Given the description of an element on the screen output the (x, y) to click on. 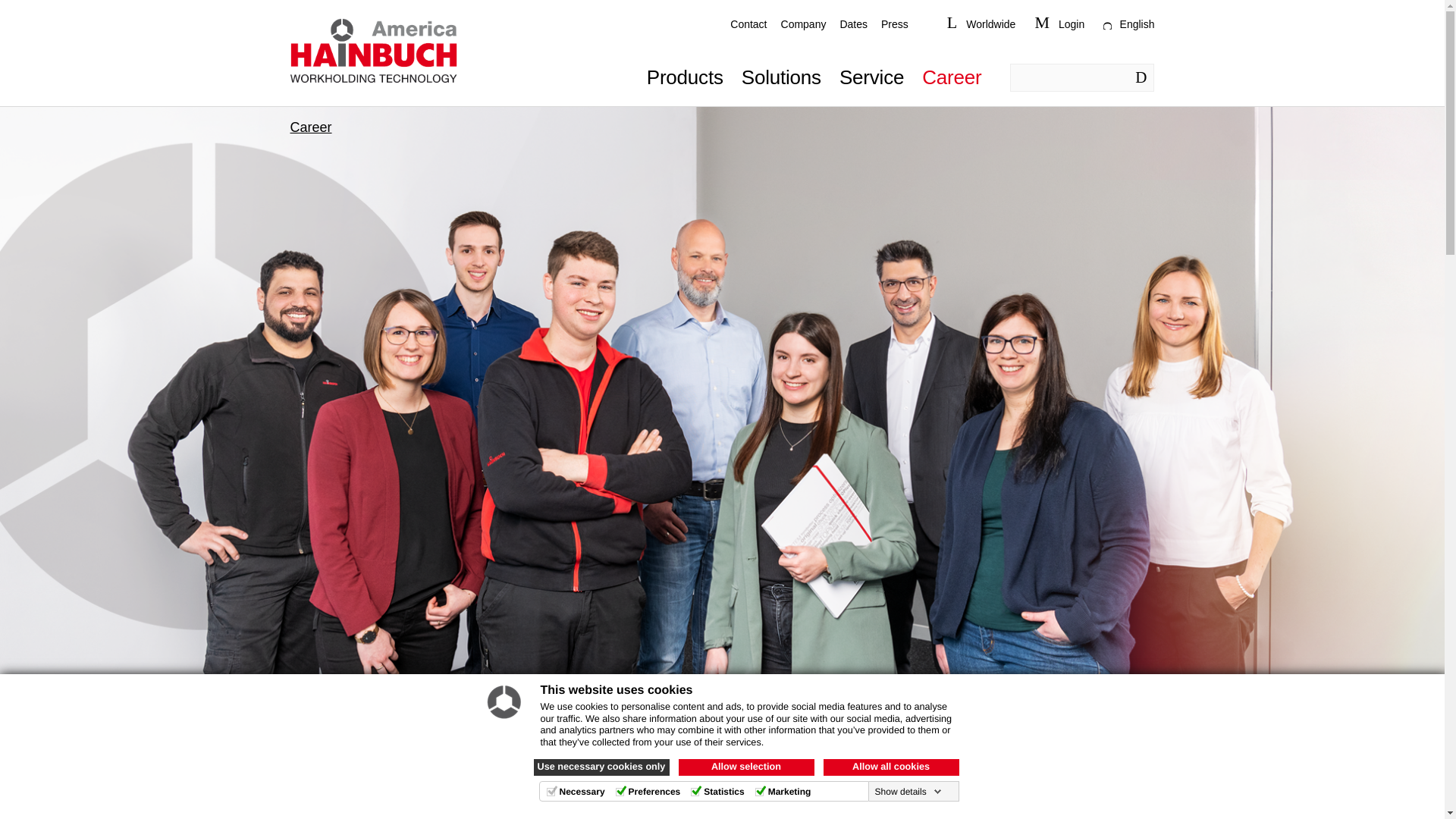
Show details (908, 791)
Allow selection (745, 767)
Allow all cookies (891, 767)
Use necessary cookies only (601, 767)
